Given the description of an element on the screen output the (x, y) to click on. 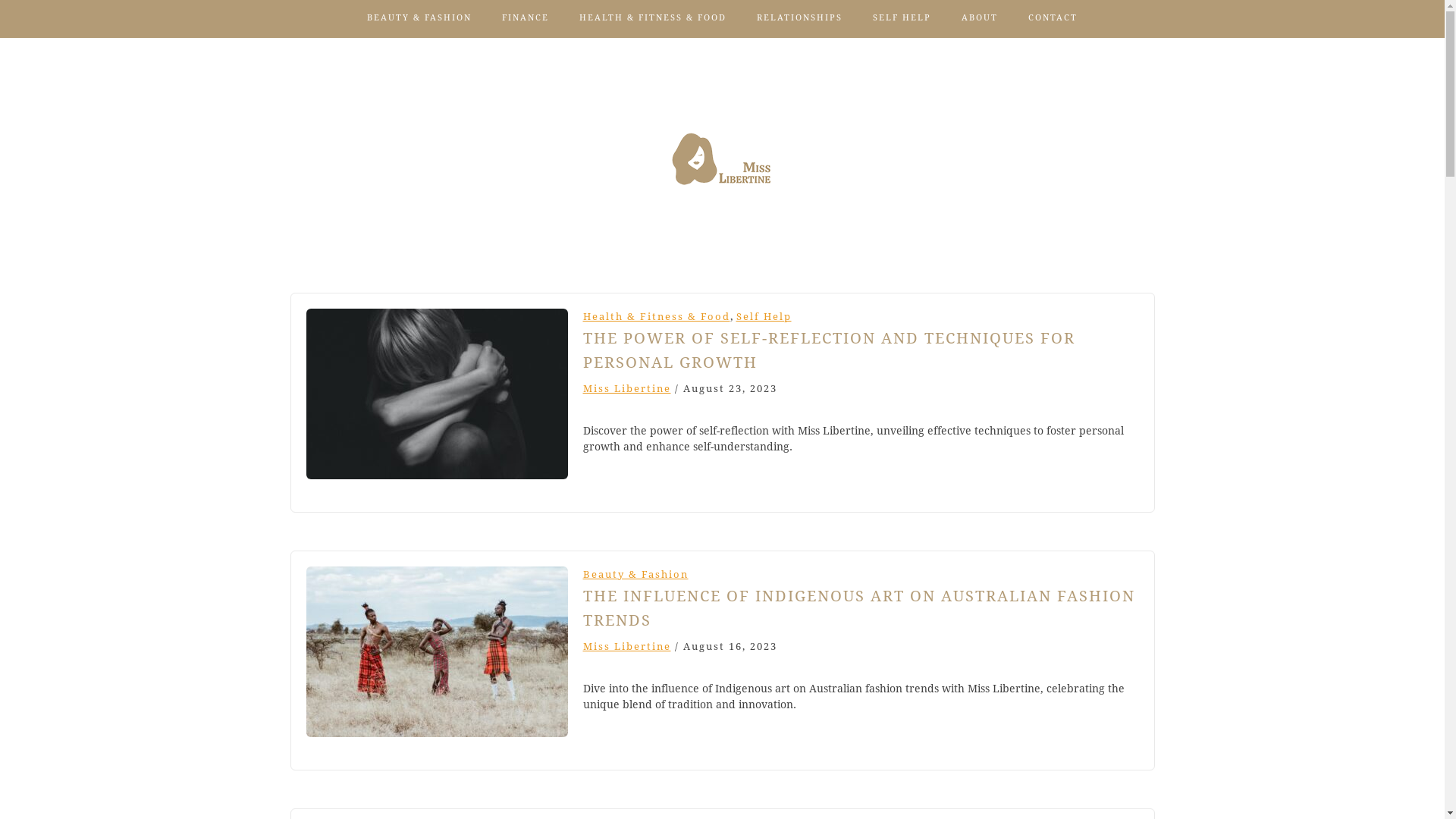
RELATIONSHIPS Element type: text (799, 18)
Self Help Element type: text (762, 316)
Miss Libertine Element type: text (626, 388)
SELF HELP Element type: text (901, 18)
FINANCE Element type: text (525, 18)
BEAUTY & FASHION Element type: text (419, 18)
Health & Fitness & Food Element type: text (655, 316)
Miss Libertine Element type: text (626, 646)
HEALTH & FITNESS & FOOD Element type: text (652, 18)
CONTACT Element type: text (1052, 18)
Beauty & Fashion Element type: text (634, 574)
THE INFLUENCE OF INDIGENOUS ART ON AUSTRALIAN FASHION TRENDS Element type: text (858, 607)
ABOUT Element type: text (979, 18)
